Given the description of an element on the screen output the (x, y) to click on. 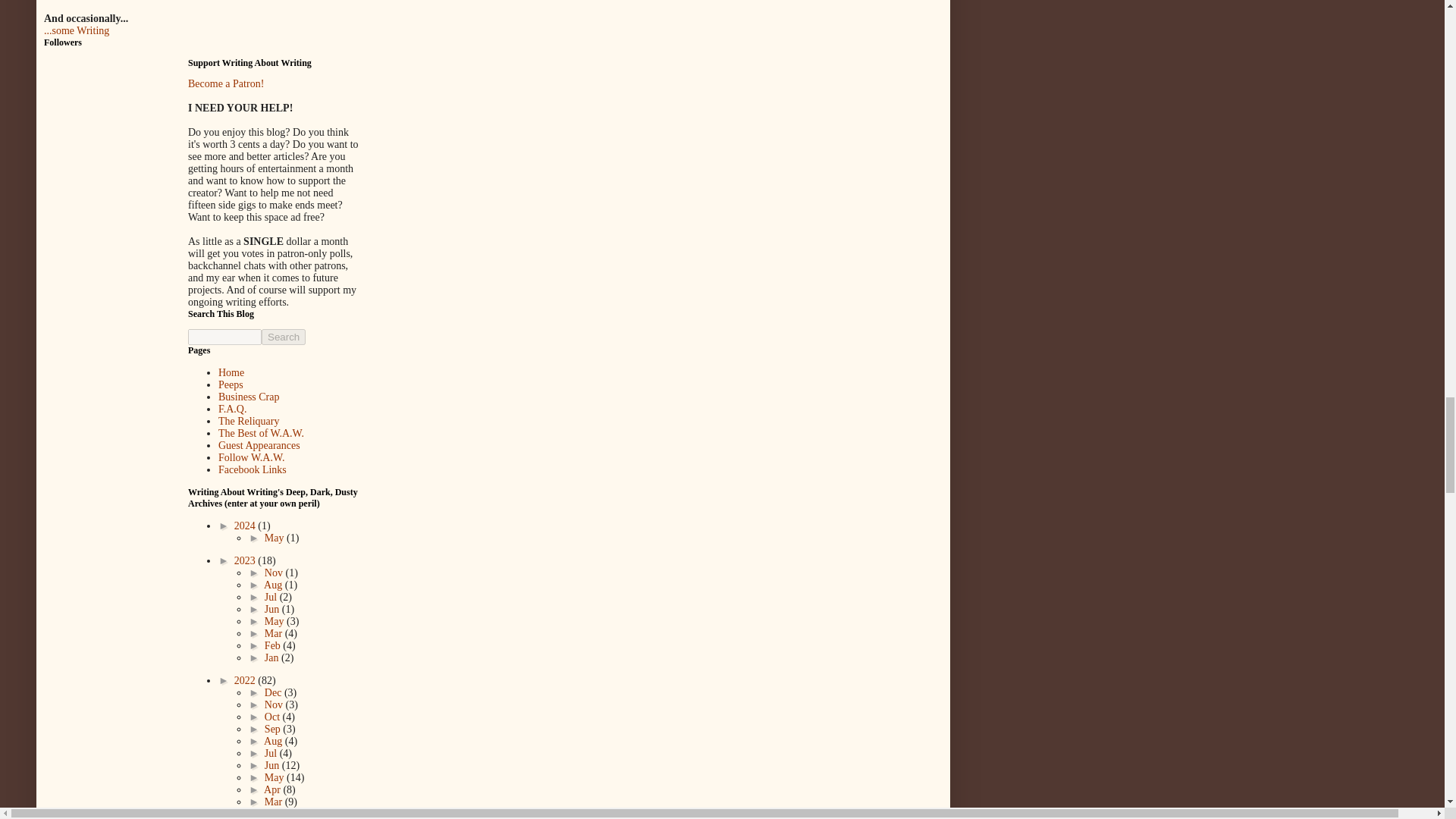
Search (283, 336)
search (283, 336)
Search (283, 336)
search (224, 336)
